Given the description of an element on the screen output the (x, y) to click on. 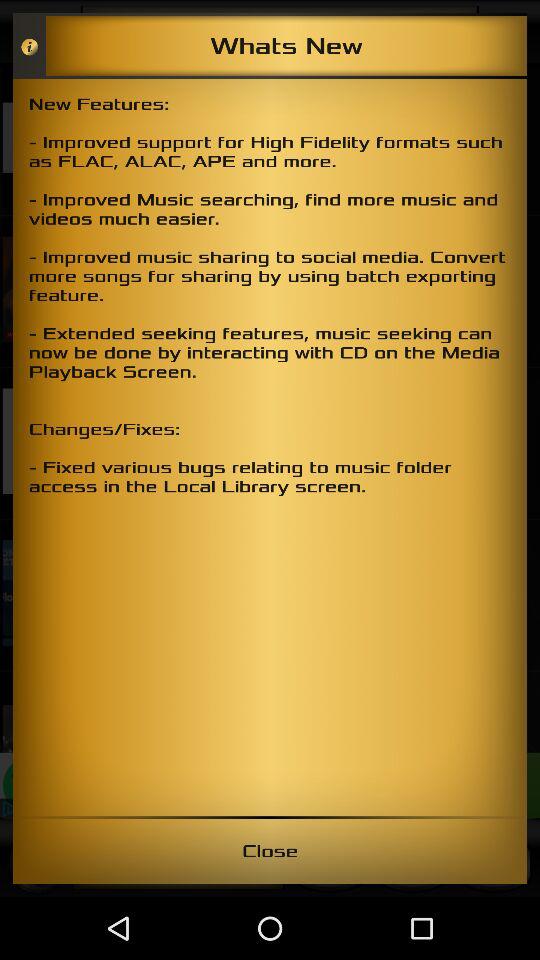
flip to the close item (269, 850)
